Given the description of an element on the screen output the (x, y) to click on. 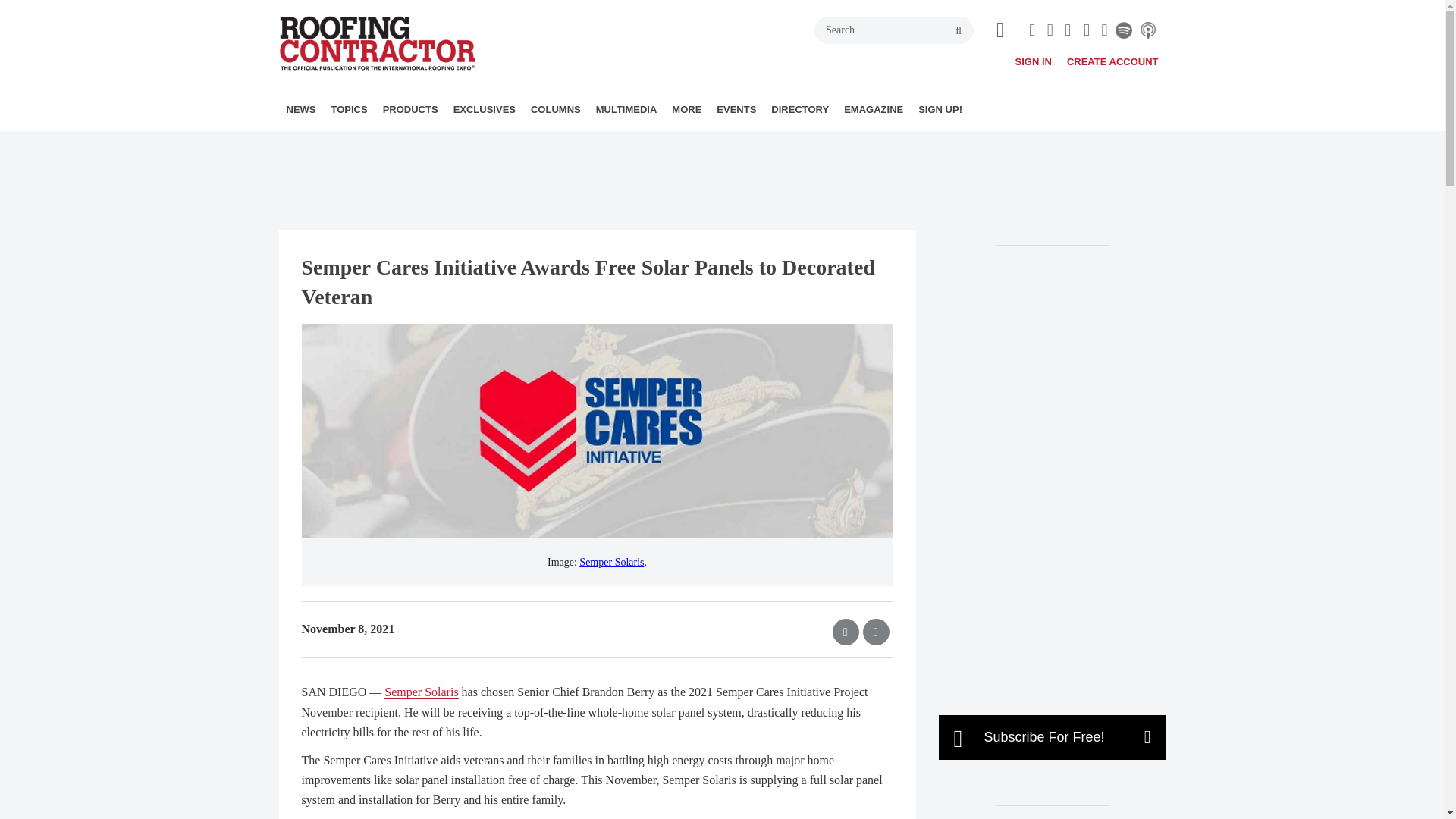
LATINOS IN ROOFING (430, 143)
ROOFING SAFETY (452, 143)
CREATE ACCOUNT (1112, 61)
BEST OF SUCCESS (539, 143)
Search (893, 30)
ROOFING SUPPLY PRO (449, 143)
COOL ROOFING (417, 143)
LOW SLOPE (436, 143)
NEWS (301, 109)
SUSTAINABLE ROOFING (458, 143)
